Given the description of an element on the screen output the (x, y) to click on. 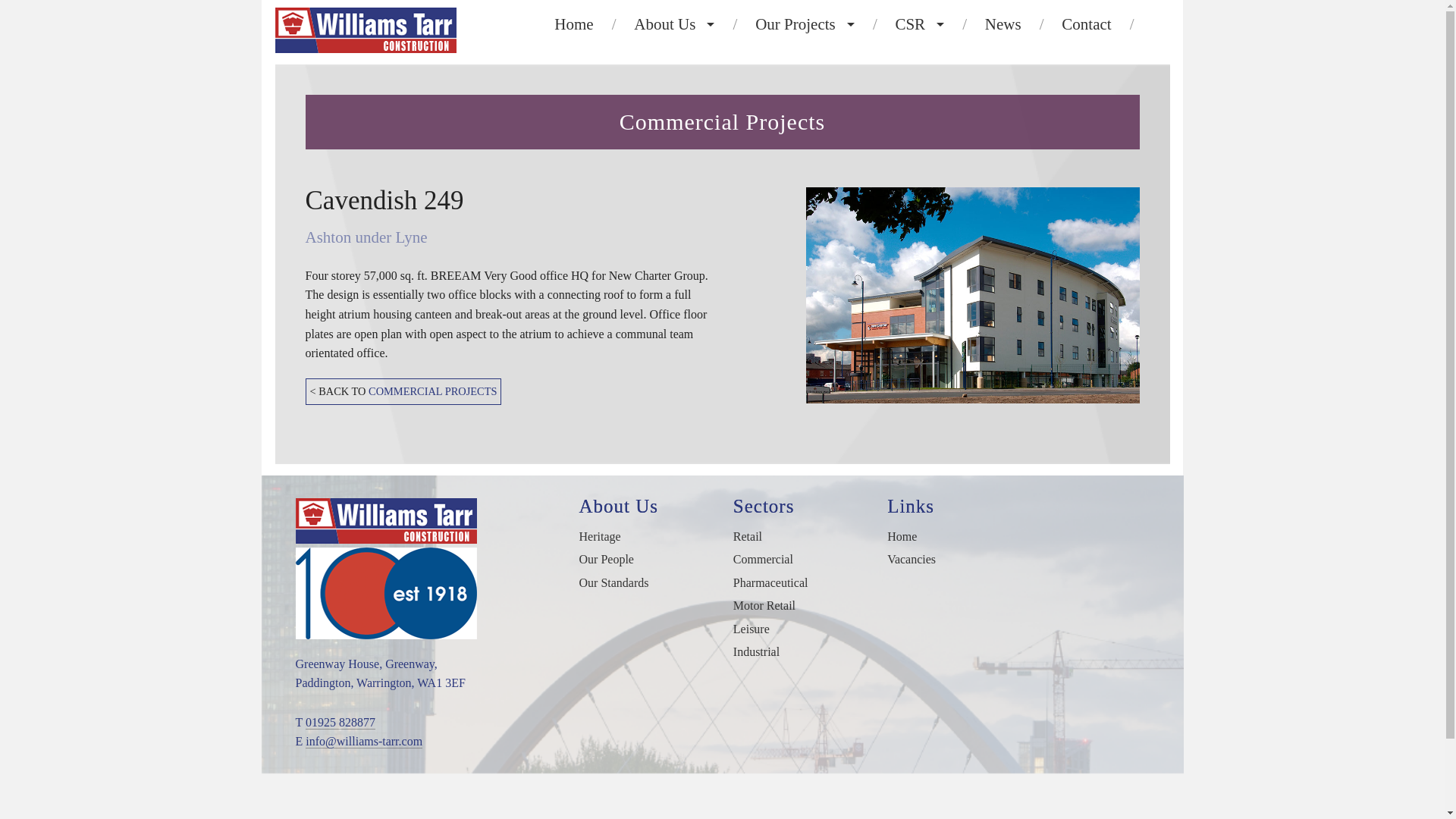
Our People (674, 92)
Our Standards (674, 126)
Heritage (674, 58)
Contact (1086, 24)
Environment and Sustainability (919, 92)
CSR (919, 24)
Retail Projects (804, 58)
News (1002, 24)
About Us (674, 24)
Quality Assurance (919, 126)
